Given the description of an element on the screen output the (x, y) to click on. 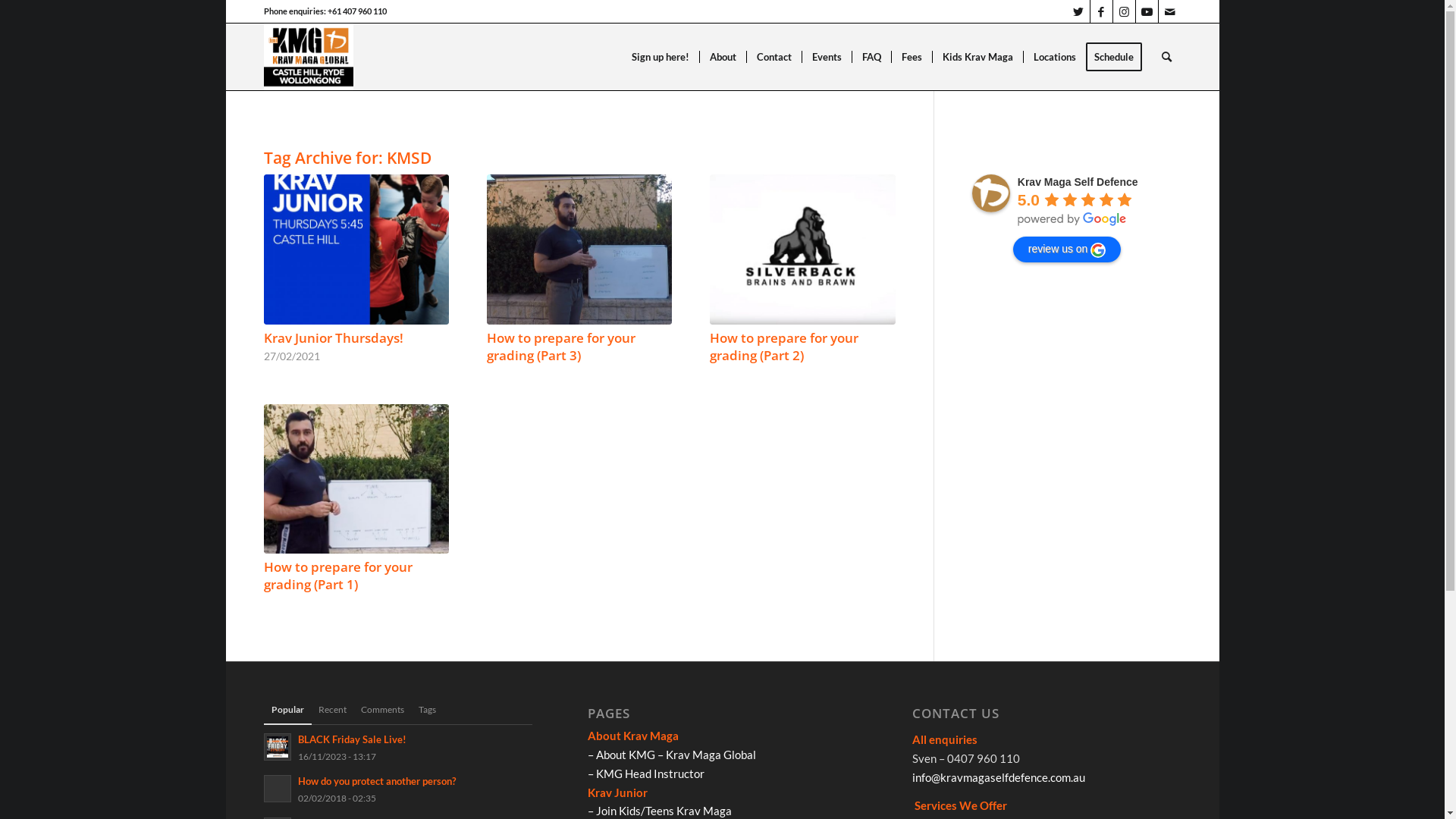
About Element type: text (722, 56)
Sign up here! Element type: text (660, 56)
Fees Element type: text (910, 56)
Krav Junior Element type: text (617, 792)
About Krav Maga Element type: text (632, 735)
info@kravmagaselfdefence.com.au Element type: text (998, 777)
Schedule Element type: text (1118, 56)
Kids Krav Maga Element type: text (976, 56)
How to prepare for your grading (Part 2) Element type: text (783, 346)
Locations Element type: text (1053, 56)
Contact Element type: text (773, 56)
Twitter Element type: hover (1078, 11)
FAQ Element type: text (870, 56)
How do you protect another person?
02/02/2018 - 02:35 Element type: text (398, 788)
powered by Google Element type: hover (1071, 218)
How to prepare for your grading (Part 3) Element type: text (560, 346)
Krav Maga Self Defence Element type: text (1077, 181)
How to prepare for your grading (Part 2) Element type: hover (801, 249)
How to prepare for your grading (Part 1) Element type: text (337, 575)
Mail Element type: hover (1169, 11)
Krav Maga Self Defence Element type: hover (991, 193)
review us on Element type: text (1067, 249)
BLACK Friday Sale Live!
16/11/2023 - 13:17 Element type: text (398, 747)
Facebook Element type: hover (1101, 11)
Krav Junior Thursdays! Element type: hover (355, 249)
How to prepare for your grading (Part 3) Element type: hover (578, 249)
Instagram Element type: hover (1124, 11)
Youtube Element type: hover (1146, 11)
Events Element type: text (825, 56)
Krav Junior Thursdays! Element type: text (333, 337)
How to prepare for your grading (Part 1) Element type: hover (355, 479)
